Given the description of an element on the screen output the (x, y) to click on. 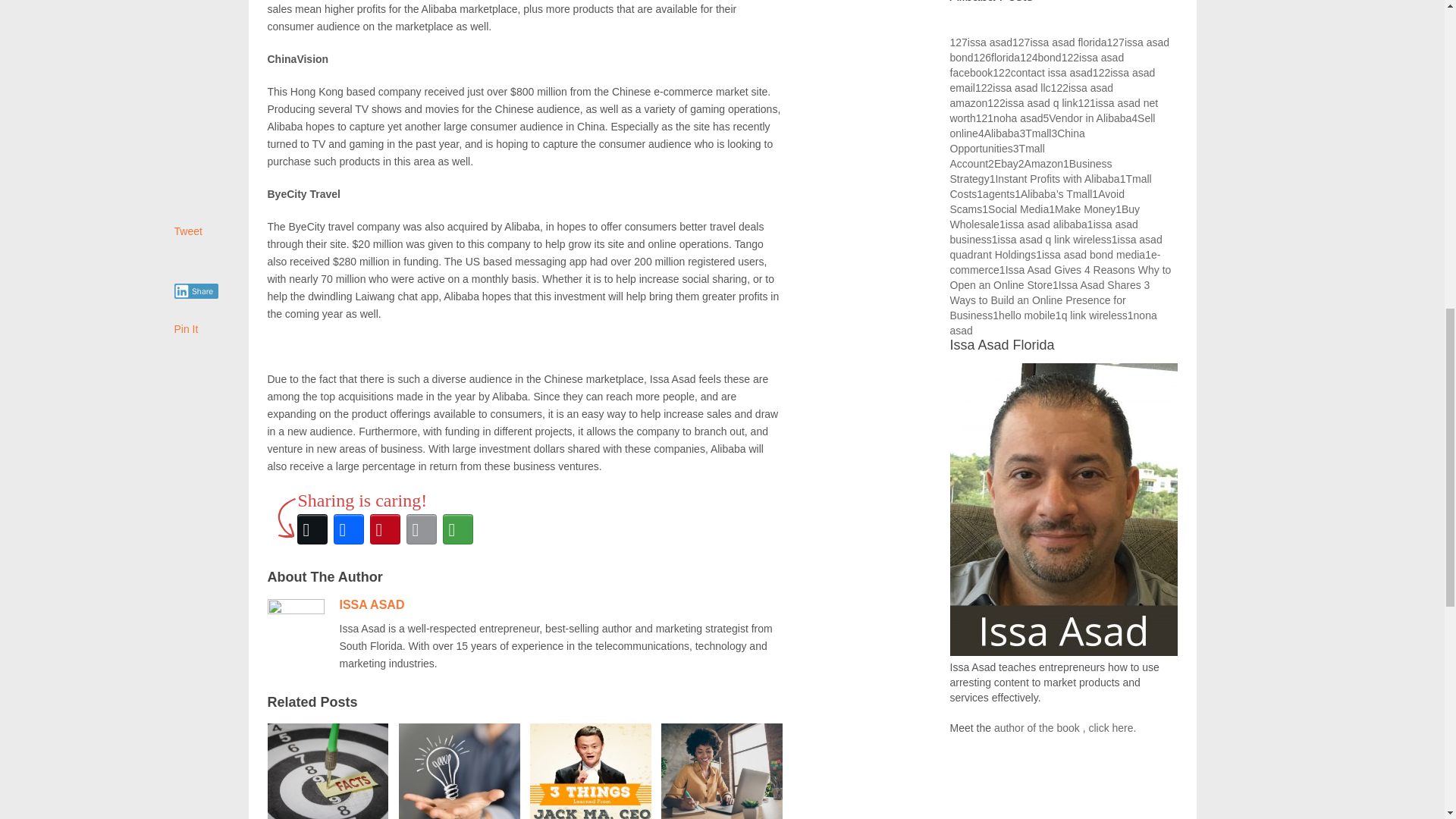
Issa Asad Reveals 3 Content Marketing Myths Debunked (327, 769)
More Options (457, 529)
Facebook (348, 529)
Email This (421, 529)
ISSA ASAD (371, 604)
3 Things Issa Asad Learned from Alibaba CEO Jack Ma (589, 769)
Pinterest (384, 529)
Issa Asad Reveals 3 Content Marketing Myths Debunked (327, 769)
